Given the description of an element on the screen output the (x, y) to click on. 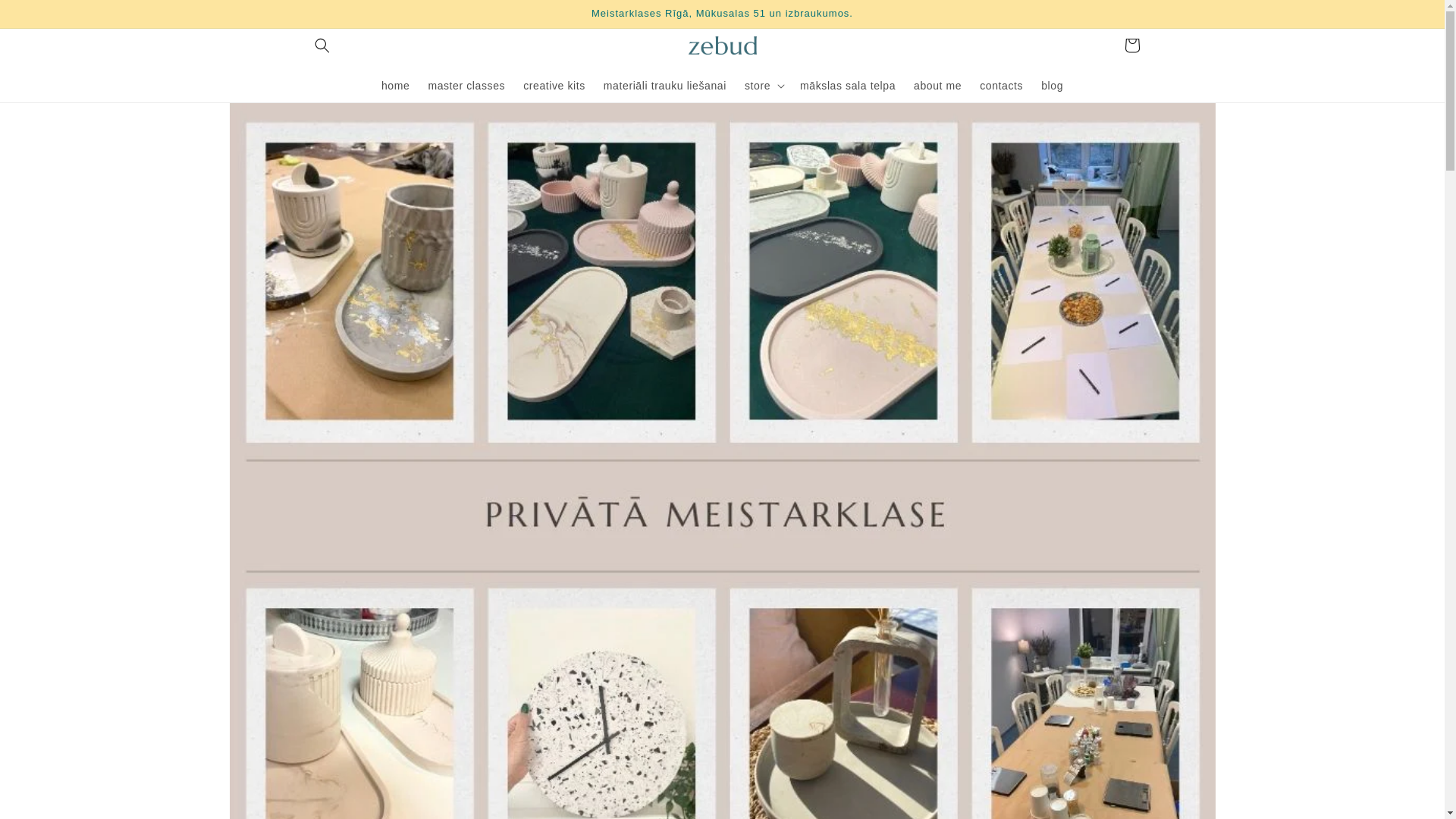
blog (1051, 85)
Cart (1131, 45)
contacts (1001, 85)
home (395, 85)
about me (937, 85)
creative kits (553, 85)
Skip to content (46, 18)
master classes (466, 85)
